Given the description of an element on the screen output the (x, y) to click on. 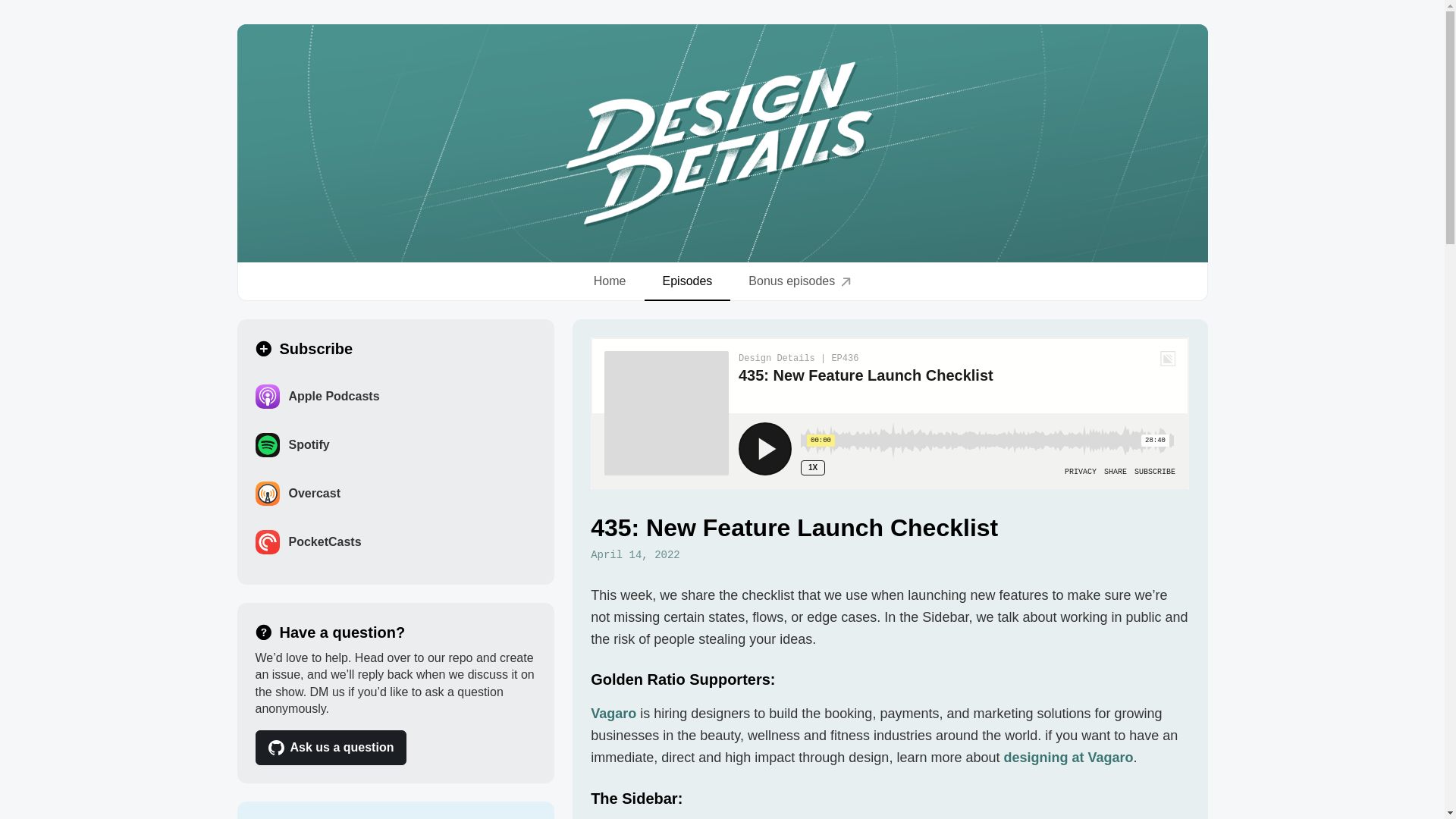
PocketCasts (394, 541)
Spotify (394, 444)
Apple Podcasts (394, 396)
Overcast (394, 493)
Ask us a question (394, 747)
Episodes (687, 281)
Ask us a question (330, 747)
Home (610, 281)
designing at Vagaro (1067, 757)
Bonus episodes (799, 281)
